Given the description of an element on the screen output the (x, y) to click on. 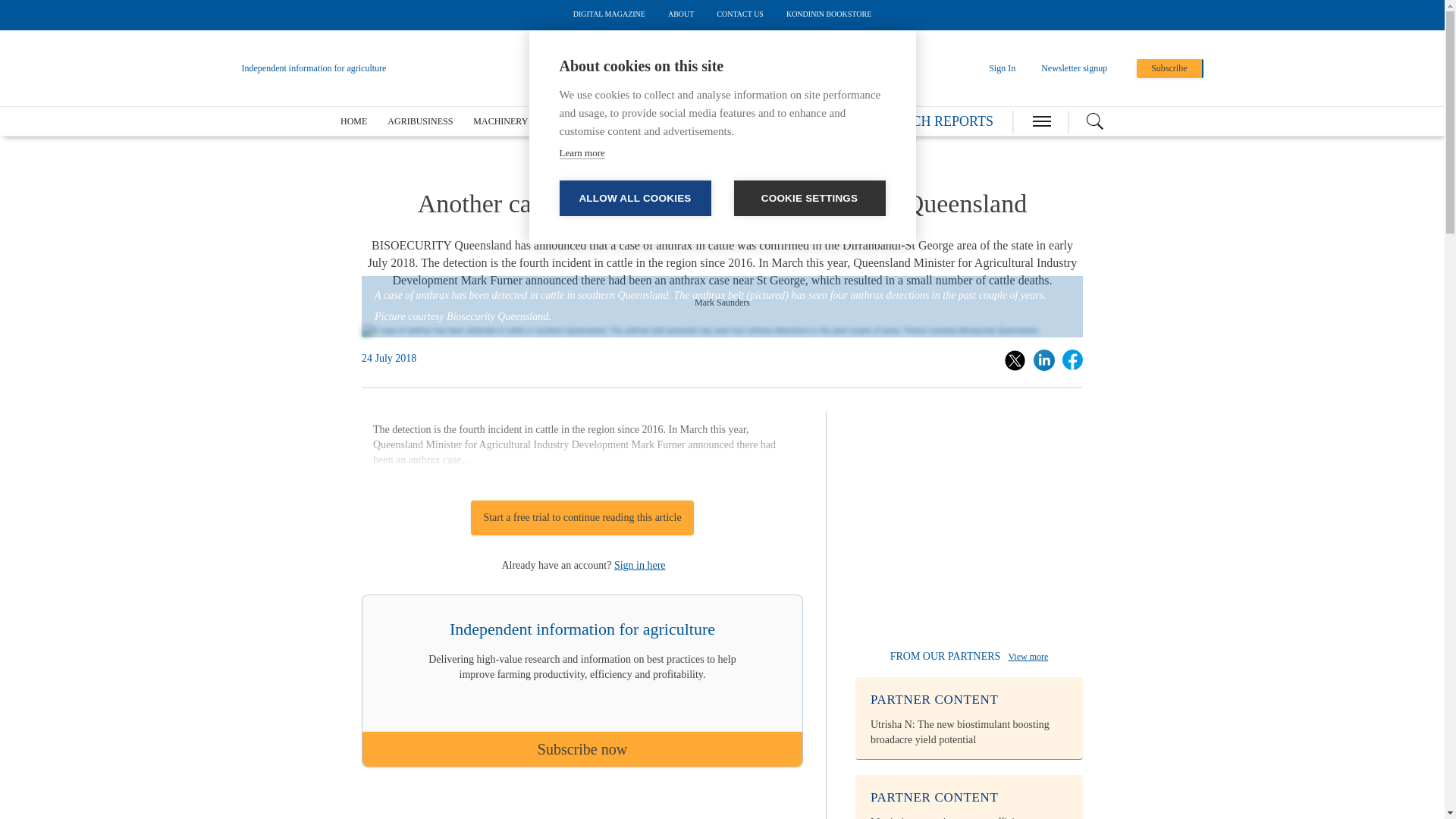
TECHNOLOGY (715, 121)
ABOUT (681, 13)
HOME (353, 121)
LIVESTOCK (638, 121)
RESOURCES (793, 121)
Newsletter signup (1073, 68)
Agribusiness (419, 121)
Sign In (1001, 68)
Technology (715, 121)
Learn more (582, 152)
